Given the description of an element on the screen output the (x, y) to click on. 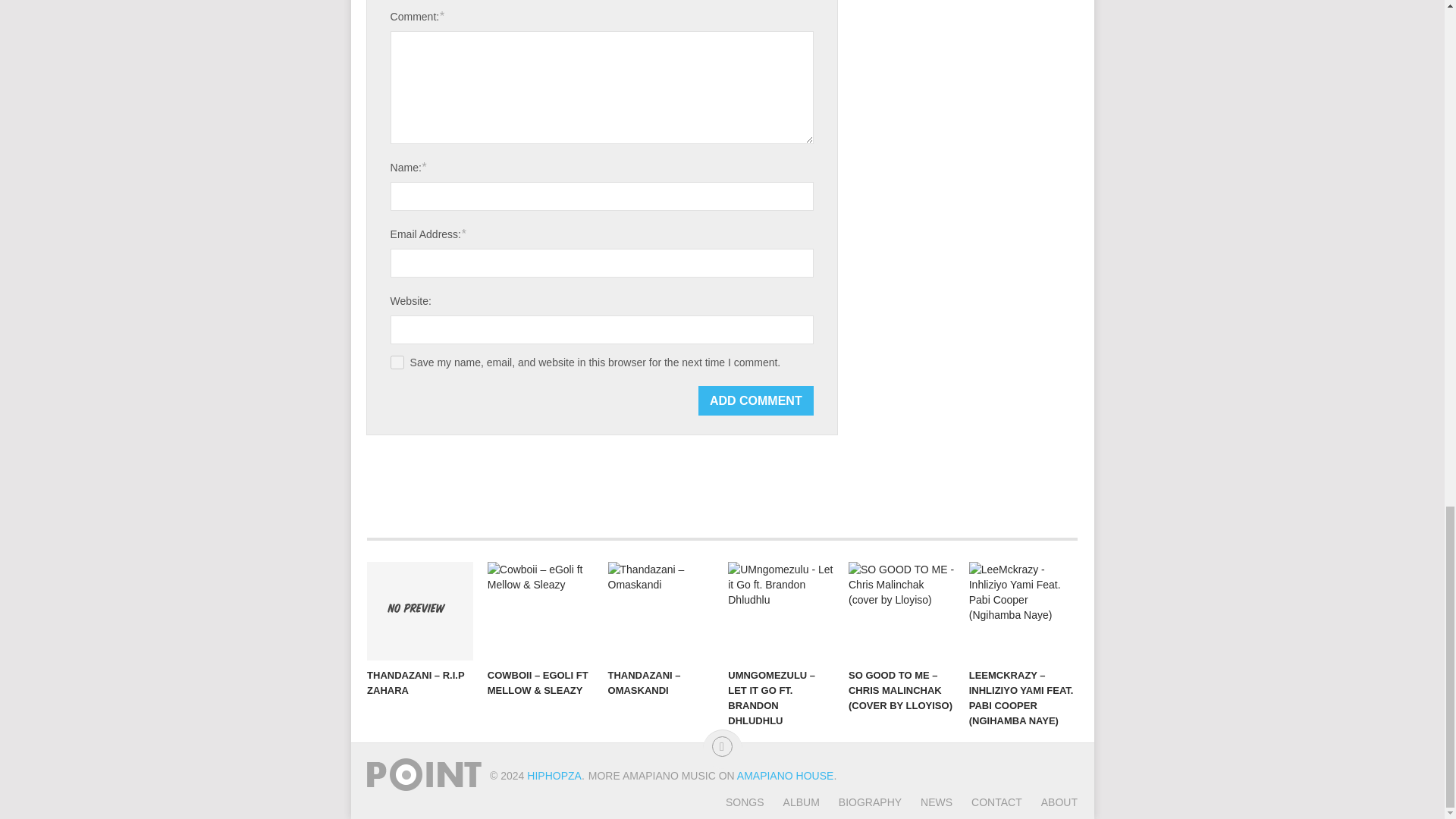
Add Comment (755, 400)
yes (397, 362)
Add Comment (755, 400)
